Given the description of an element on the screen output the (x, y) to click on. 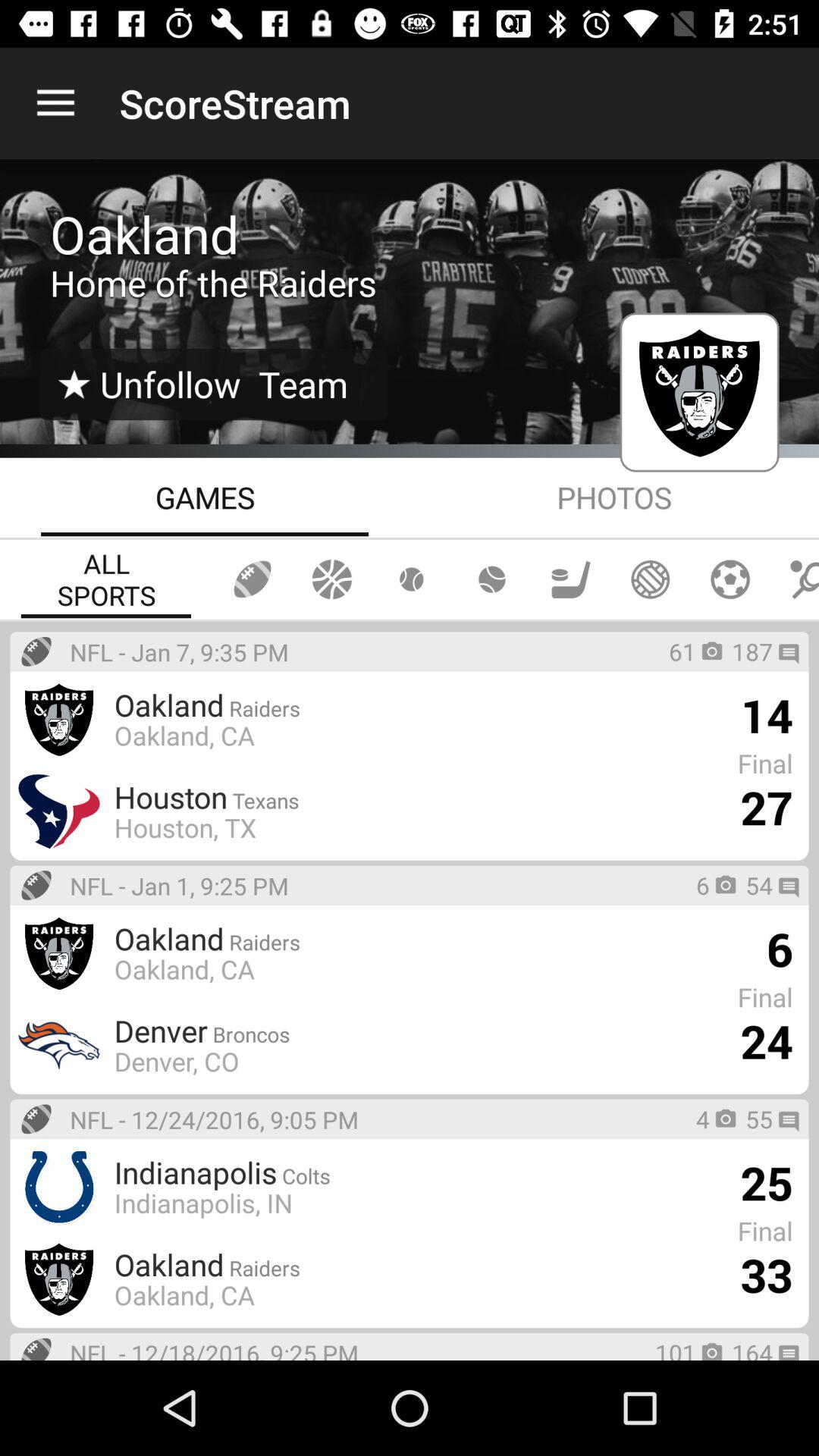
select the item below 25 icon (766, 1274)
